Given the description of an element on the screen output the (x, y) to click on. 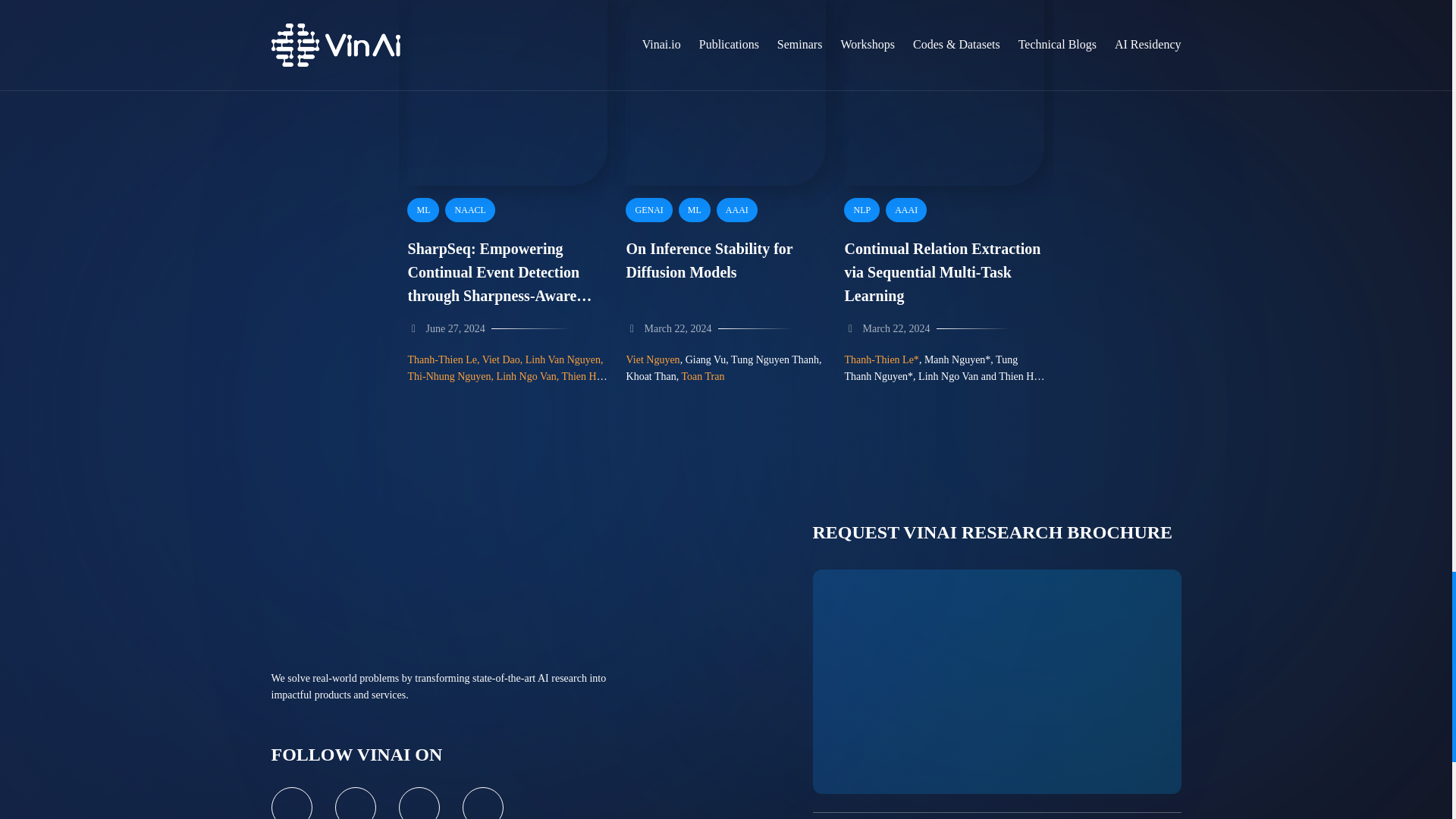
Form 0 (996, 681)
